Given the description of an element on the screen output the (x, y) to click on. 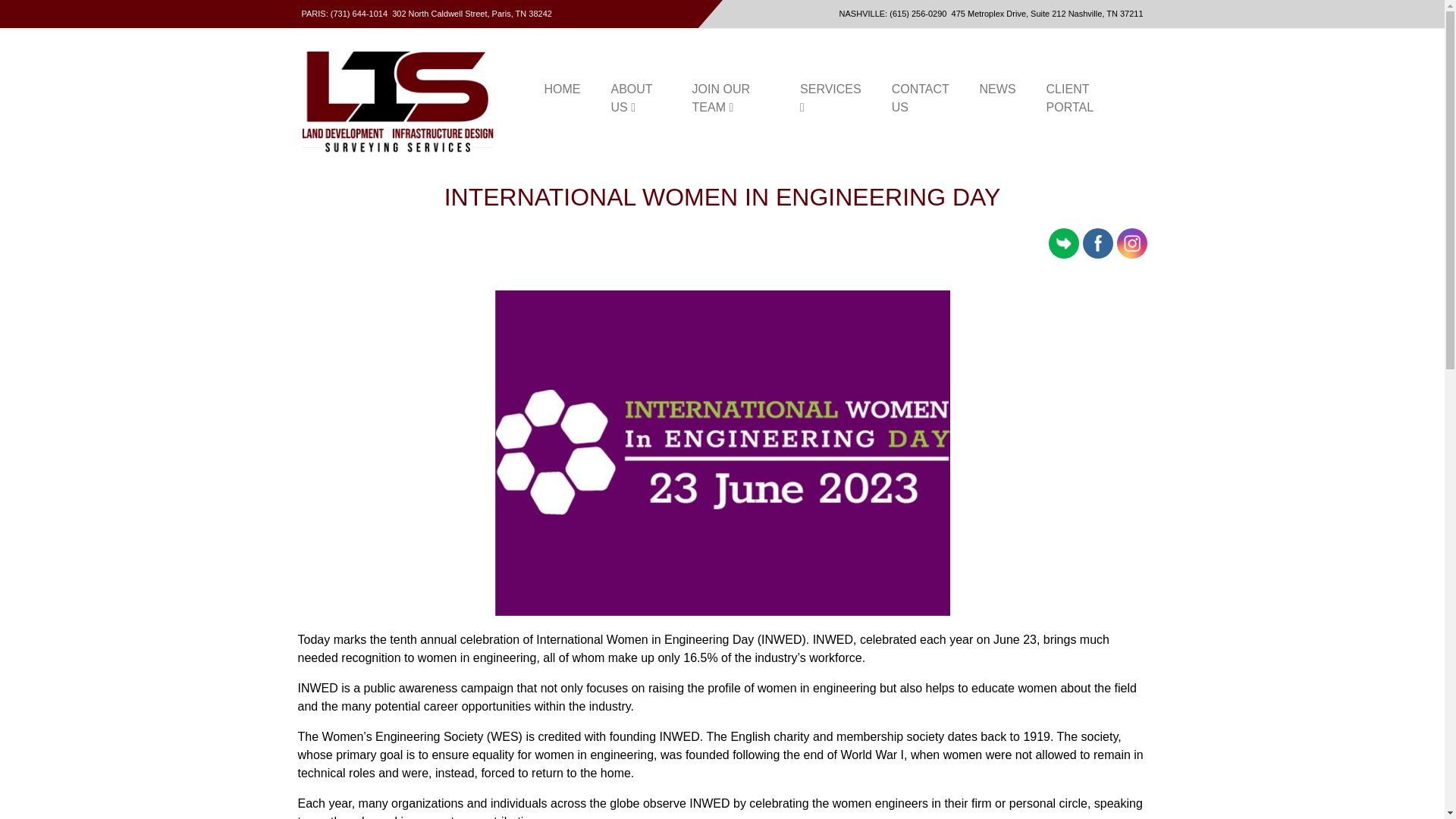
CLIENT PORTAL (1081, 98)
Services (830, 98)
JOIN OUR TEAM (730, 98)
HOME (562, 89)
Join Our Team (730, 98)
ABOUT US (636, 98)
About Us (636, 98)
SERVICES (830, 98)
CONTACT US (919, 98)
Contact Us (919, 98)
Home (562, 89)
NEWS (996, 89)
